Given the description of an element on the screen output the (x, y) to click on. 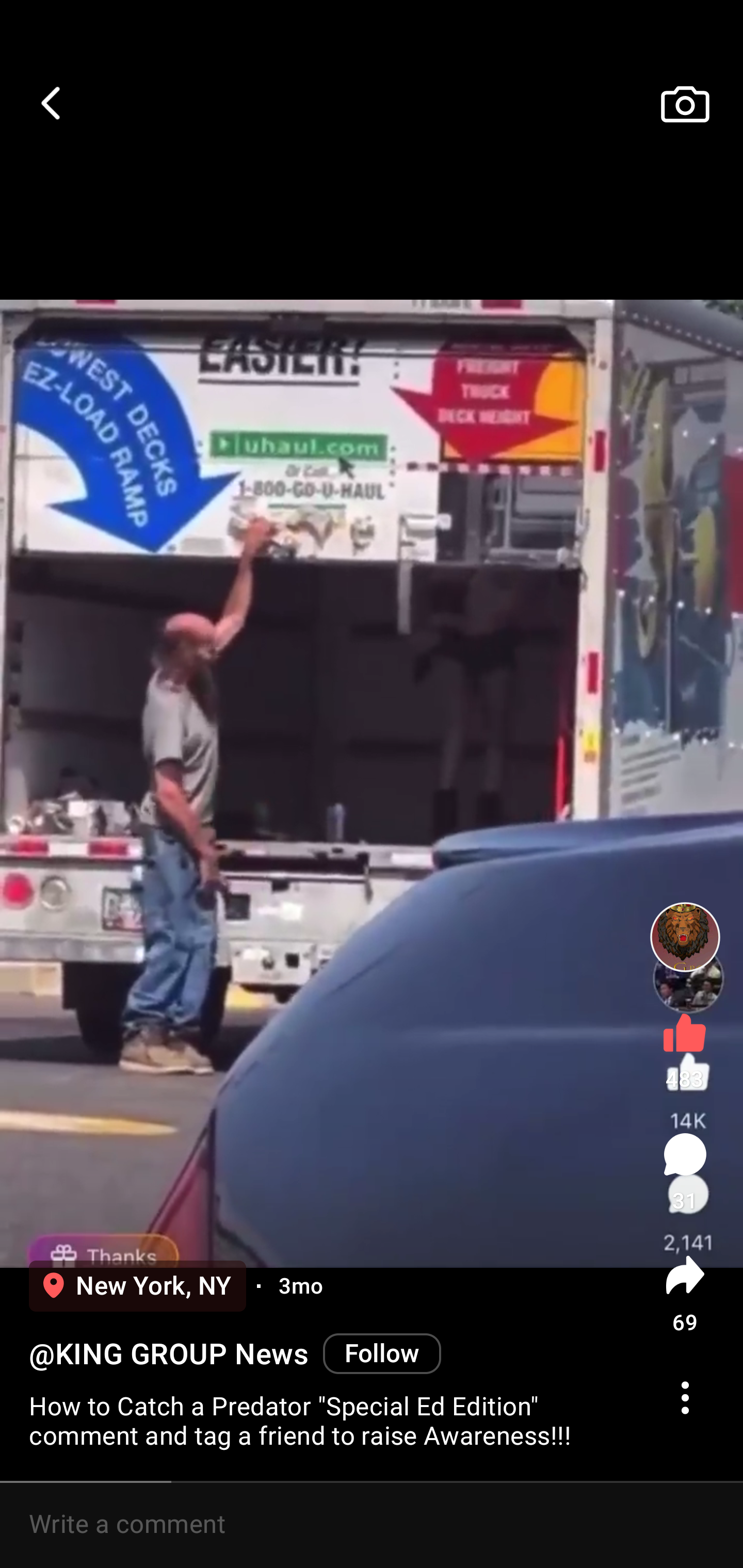
483 (684, 1046)
31 (684, 1171)
69 (684, 1293)
New York, NY (136, 1286)
Follow (382, 1352)
@KING GROUP News (168, 1354)
Write a comment (371, 1524)
